Given the description of an element on the screen output the (x, y) to click on. 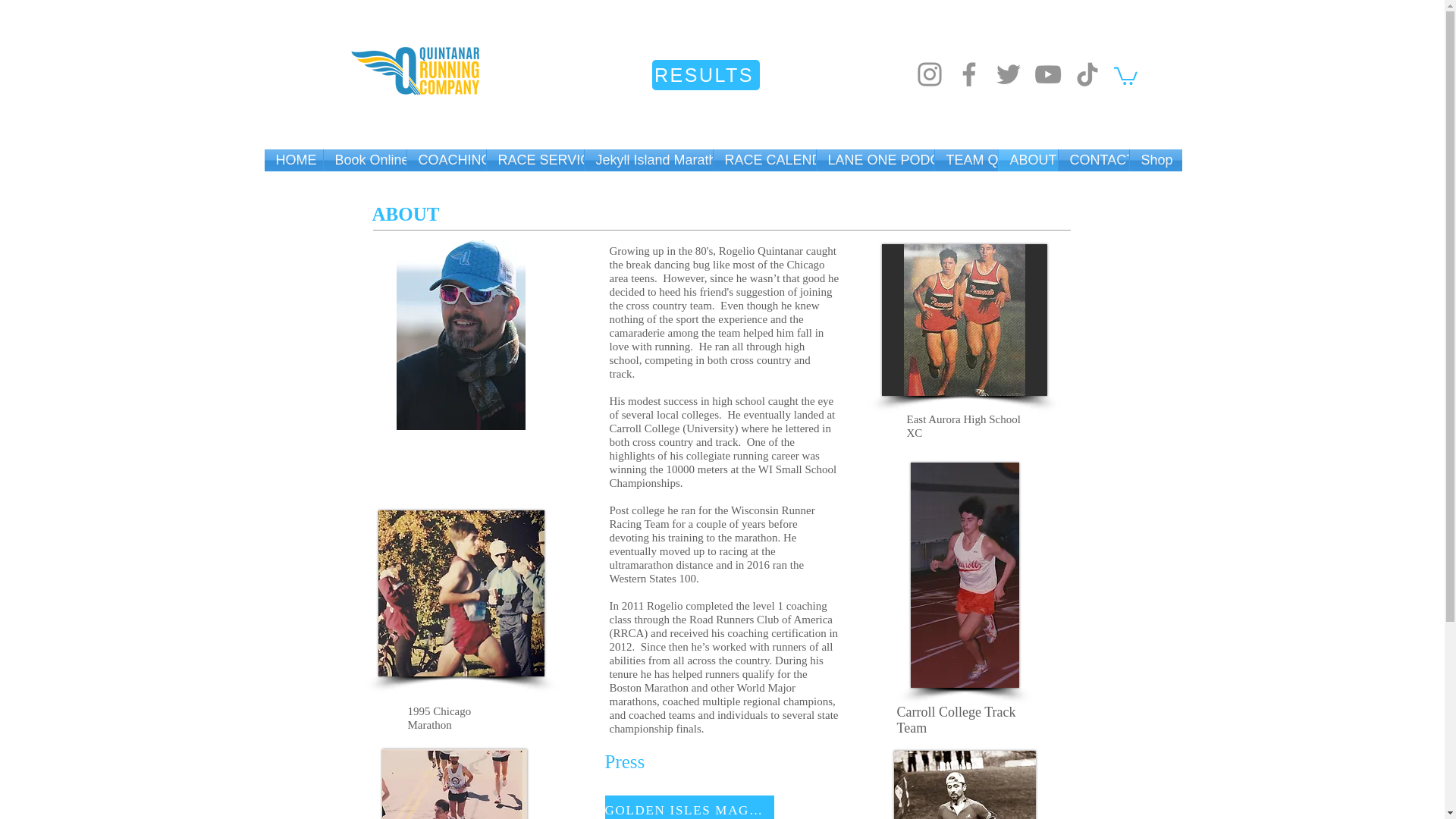
Shop (1155, 160)
CONTACT (1093, 160)
RESULTS (706, 74)
Jekyll Island Marathon (647, 160)
RACE CALENDAR (764, 160)
GOLDEN ISLES MAGAZINE (689, 807)
ABOUT (1027, 160)
TEAM Q (965, 160)
Book Online (364, 160)
RACE SERVICES (534, 160)
HOME (292, 160)
COACHING (445, 160)
LANE ONE PODCAST (874, 160)
